Given the description of an element on the screen output the (x, y) to click on. 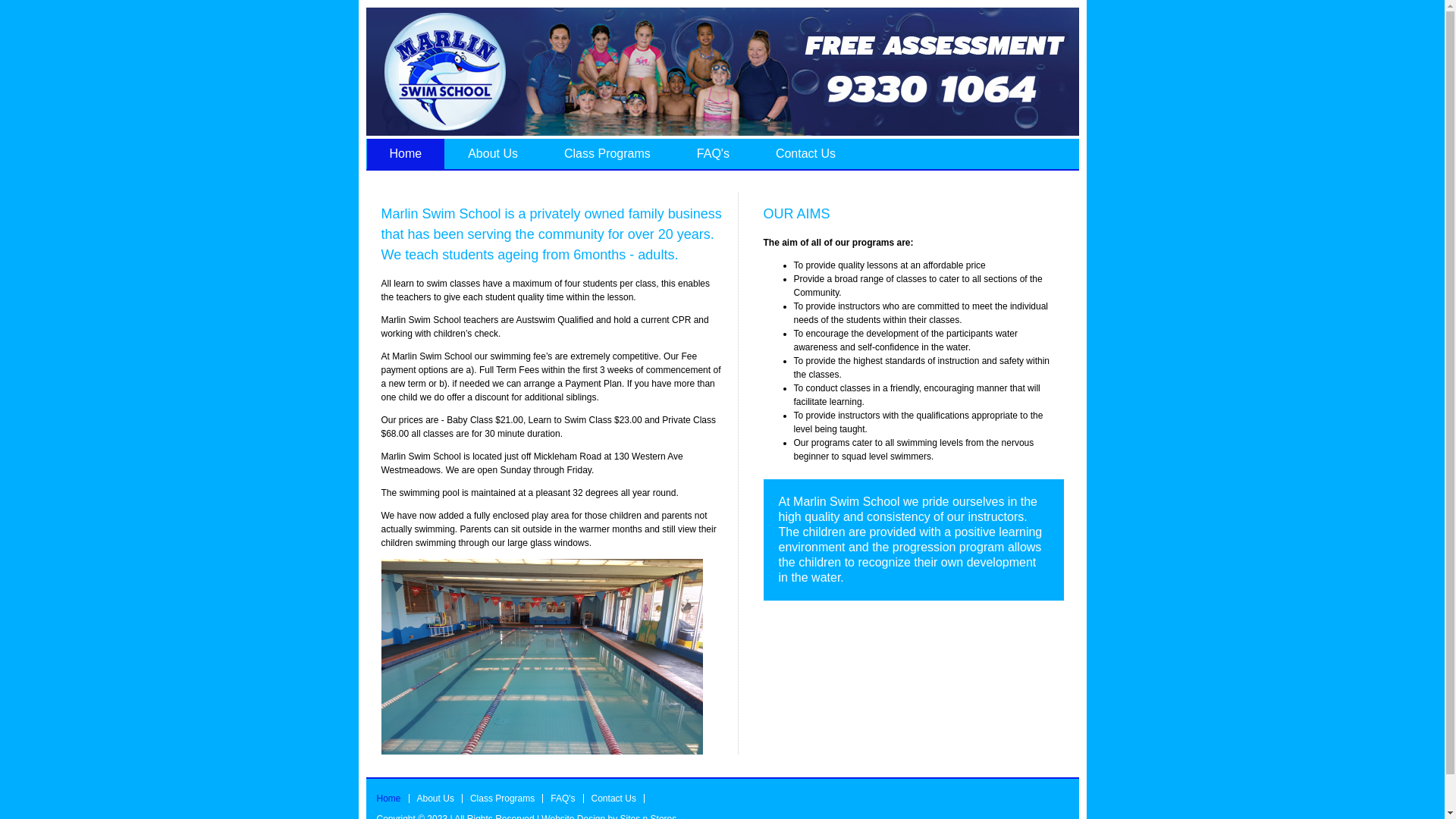
Marlin Swim School Element type: hover (721, 71)
Home Element type: text (405, 153)
Contact Us Element type: text (805, 153)
Contact Us Element type: text (617, 798)
FAQ's Element type: text (713, 153)
About Us Element type: text (439, 798)
Class Programs Element type: text (607, 153)
FAQ's Element type: text (566, 798)
Home Element type: text (392, 798)
About Us Element type: text (492, 153)
Class Programs Element type: text (506, 798)
